Given the description of an element on the screen output the (x, y) to click on. 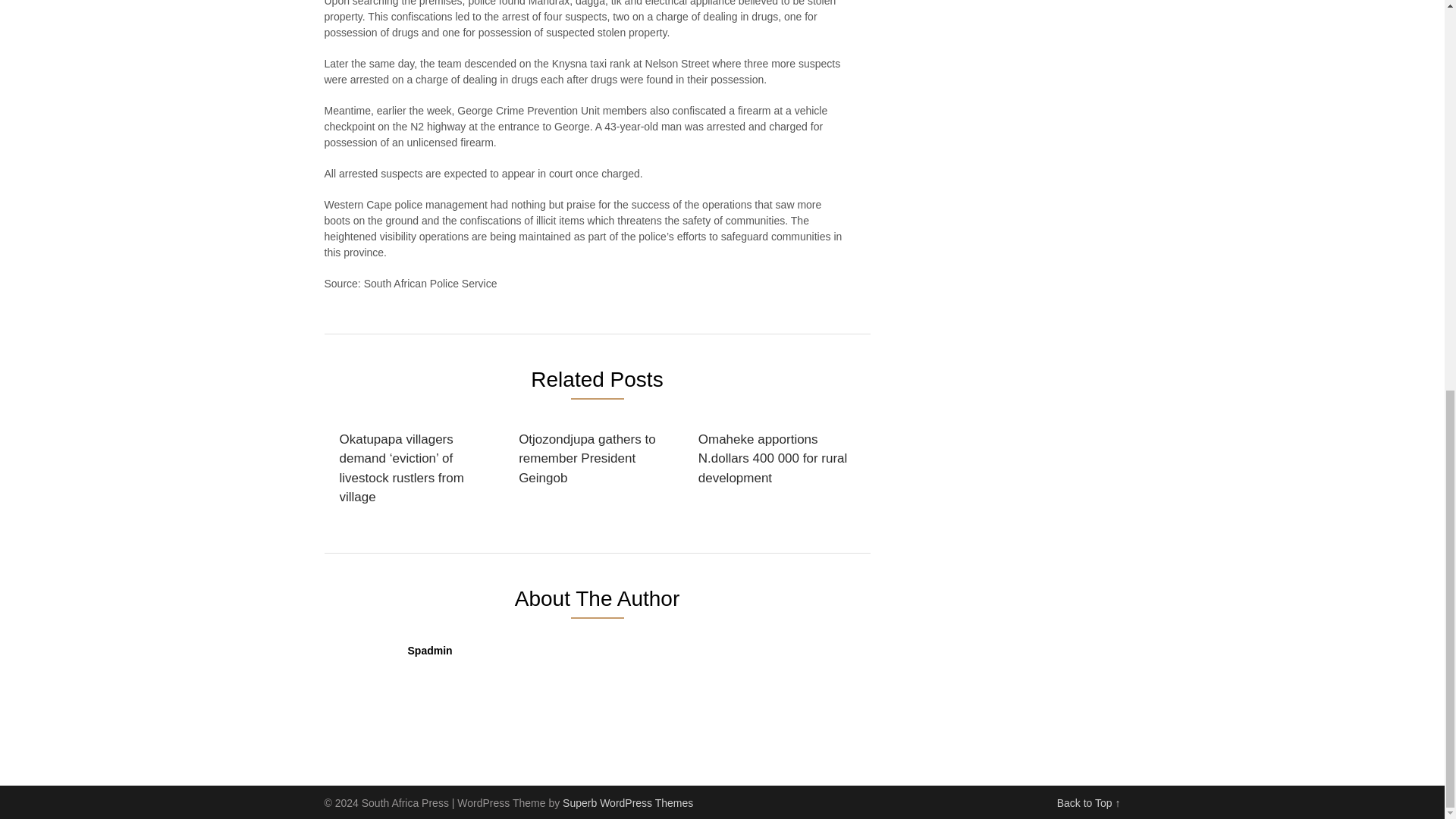
Omaheke apportions N.dollars 400 000 for rural development (774, 459)
Omaheke apportions N.dollars 400 000 for rural development (774, 459)
Otjozondjupa gathers to remember President Geingob (593, 459)
Otjozondjupa gathers to remember President Geingob (593, 459)
Superb WordPress Themes (627, 802)
